Given the description of an element on the screen output the (x, y) to click on. 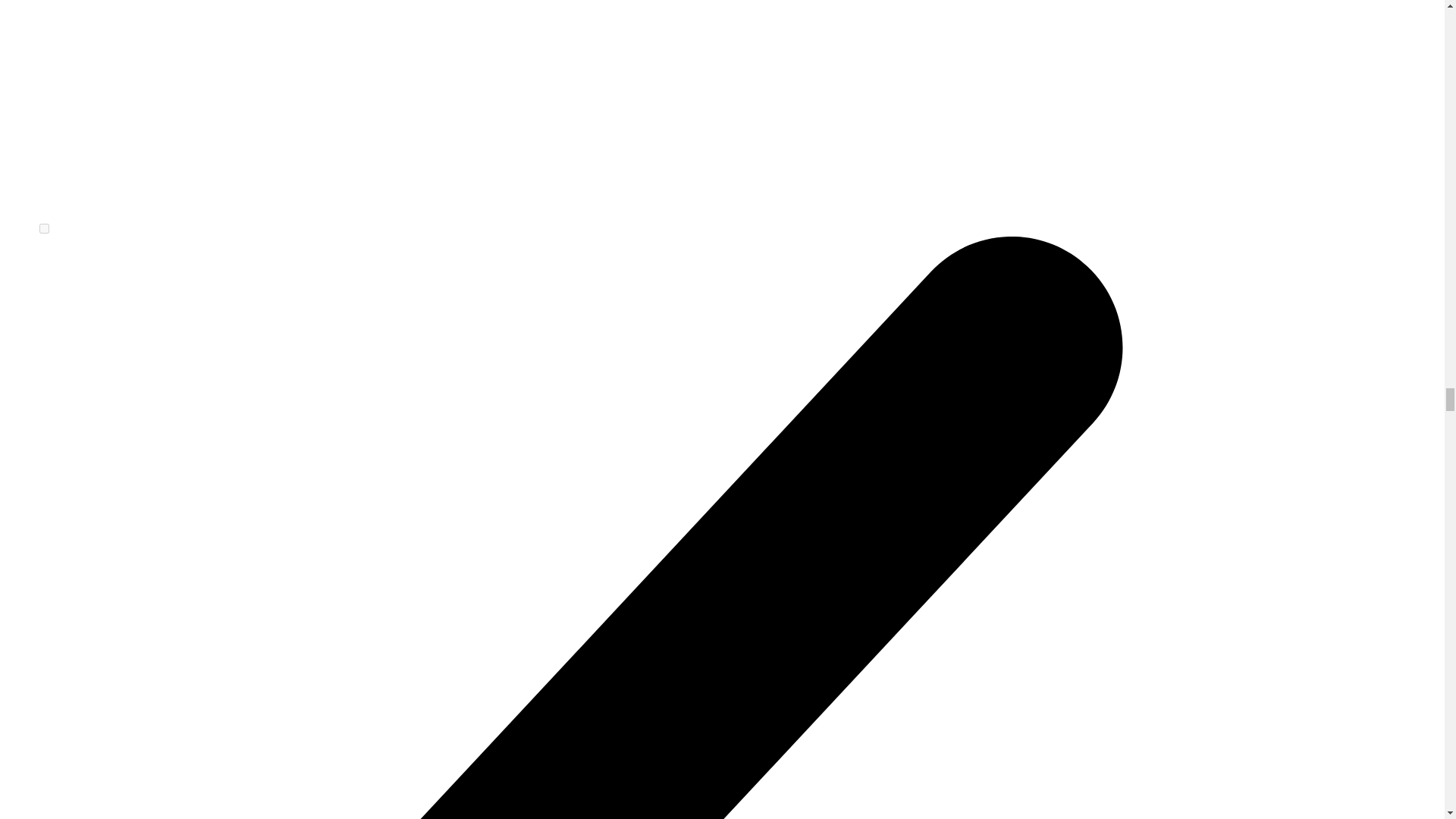
on (44, 228)
